Given the description of an element on the screen output the (x, y) to click on. 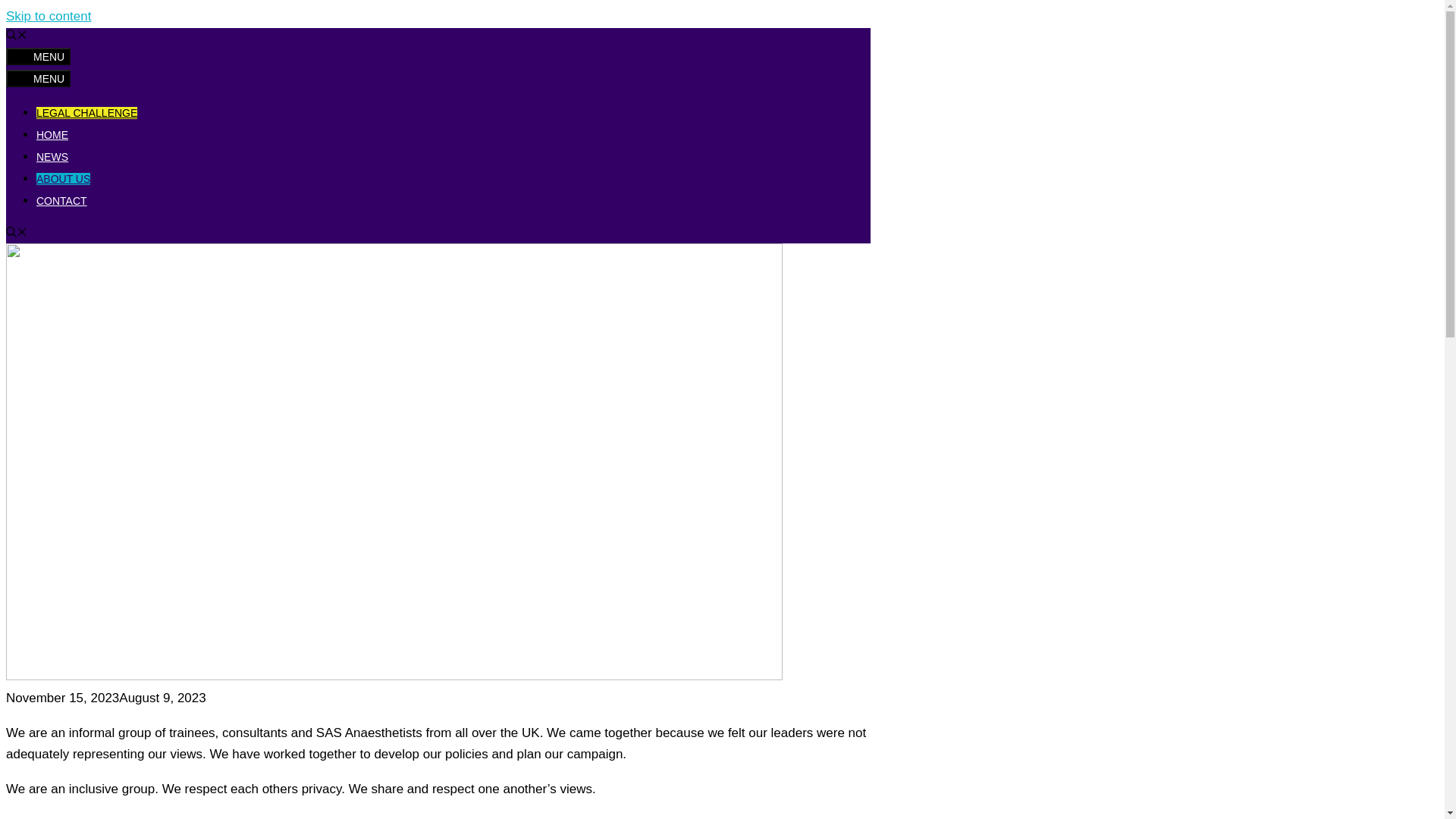
ABOUT US (63, 178)
HOME (52, 134)
NEWS (52, 156)
MENU (37, 77)
CONTACT (61, 200)
Skip to content (47, 16)
MENU (37, 56)
Skip to content (47, 16)
LEGAL CHALLENGE (86, 112)
